Given the description of an element on the screen output the (x, y) to click on. 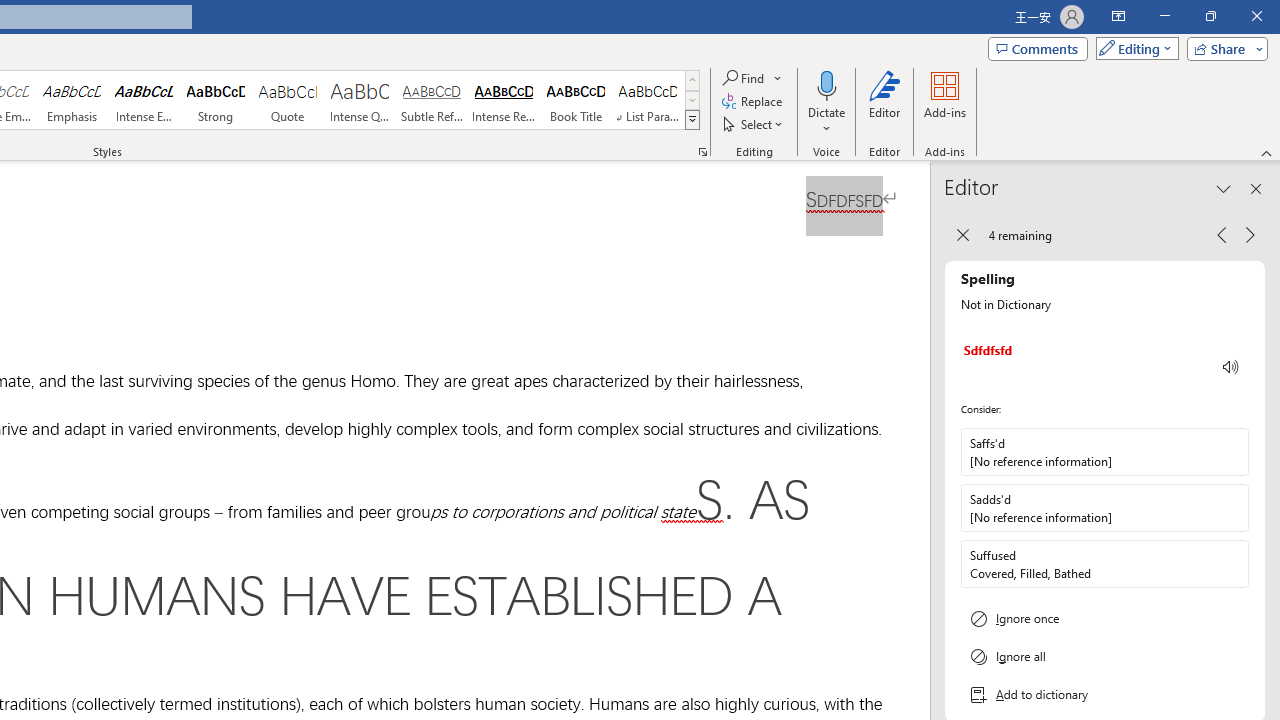
Row up (692, 79)
Ribbon Display Options (1118, 16)
Collapse the Ribbon (1267, 152)
More options for Sadds'd (1232, 508)
Book Title (575, 100)
Subtle Reference (431, 100)
More options for Suffused (1232, 563)
Emphasis (71, 100)
Ignore once (1105, 618)
Strong (216, 100)
